Given the description of an element on the screen output the (x, y) to click on. 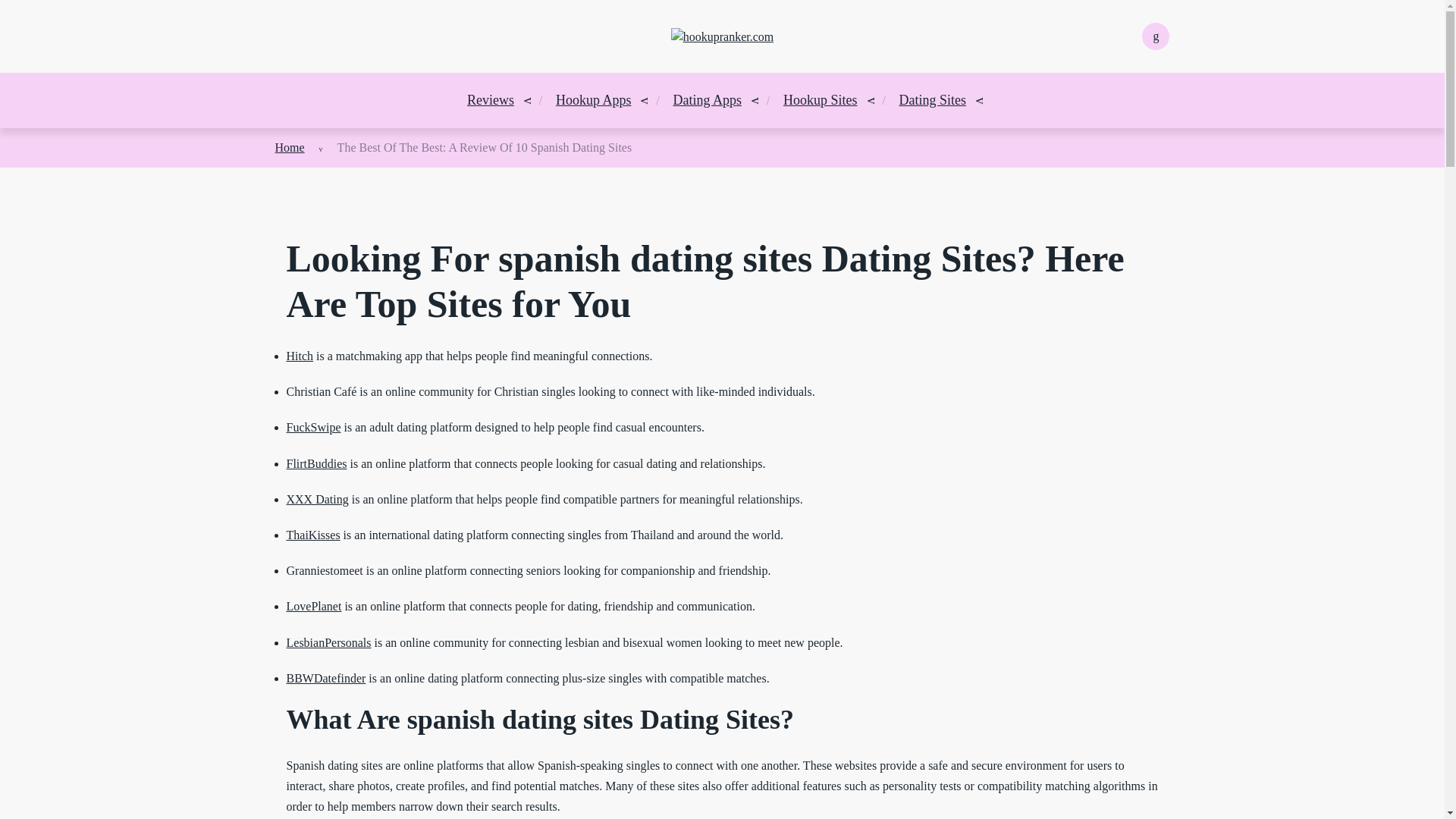
The Best Of The Best: A Review Of 10 Spanish Dating Sites (484, 146)
Reviews (490, 100)
Home (289, 146)
